Given the description of an element on the screen output the (x, y) to click on. 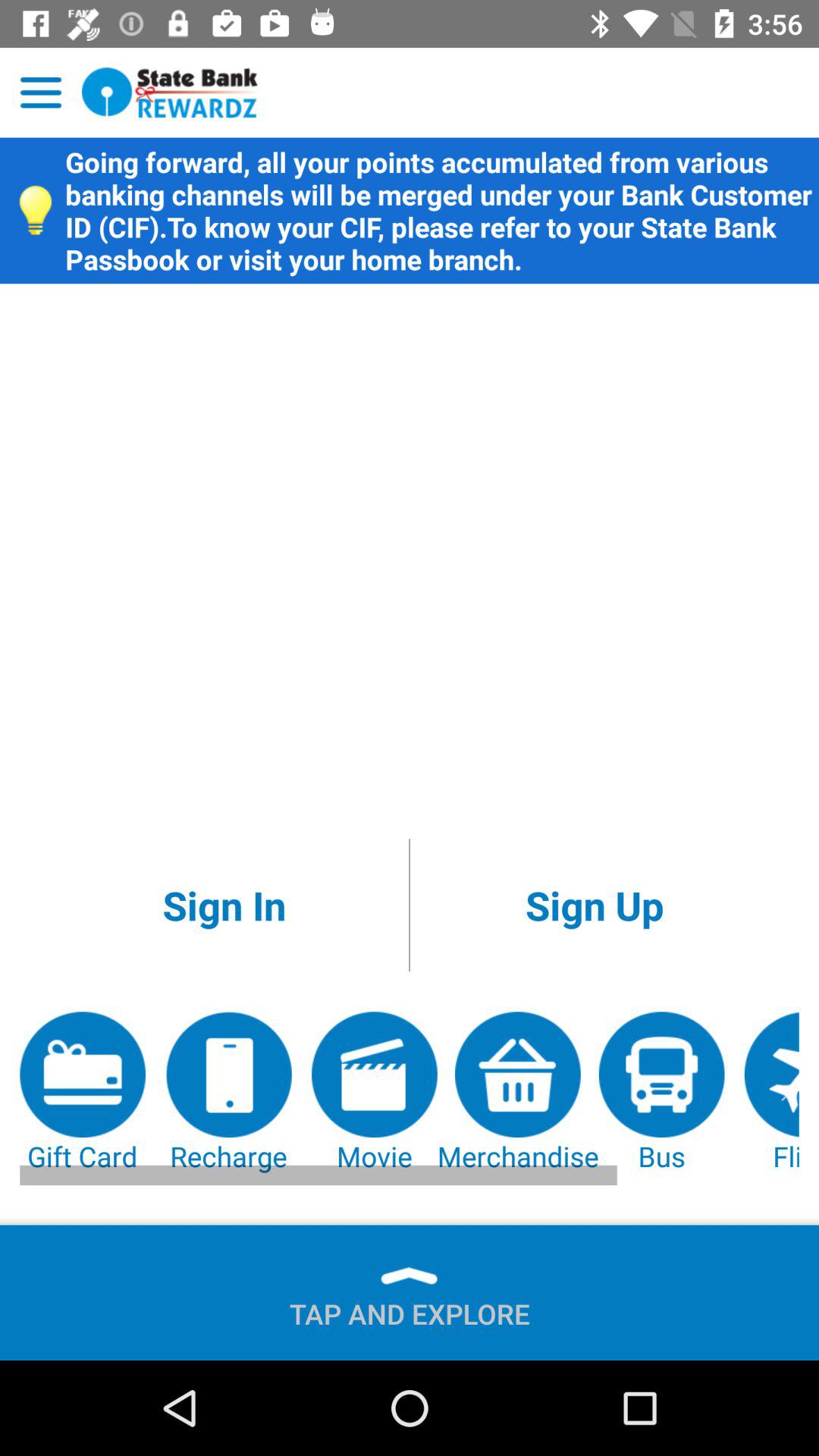
jump to the sign in item (223, 904)
